Given the description of an element on the screen output the (x, y) to click on. 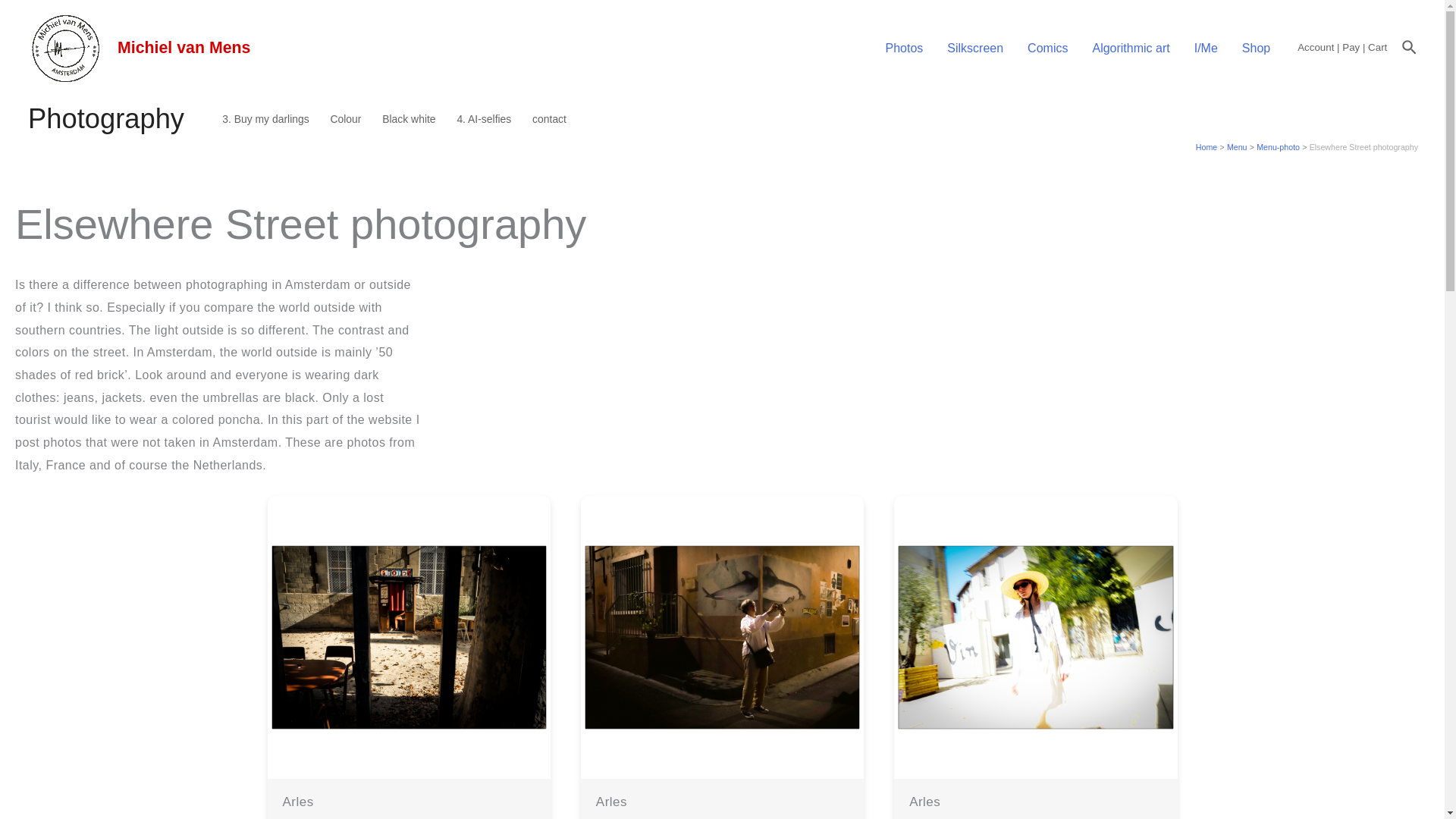
Black white (408, 118)
About me (1206, 47)
3. Buy my darlings (264, 118)
Menu (1237, 146)
Photography (119, 118)
Silkscreen (974, 47)
Algorithmic art (1130, 47)
contact (548, 118)
Pay (1350, 47)
Menu-photo (1278, 146)
Home (1206, 146)
4. AI-selfies (483, 118)
Colour (346, 118)
Shop (1256, 47)
Comics (1047, 47)
